Given the description of an element on the screen output the (x, y) to click on. 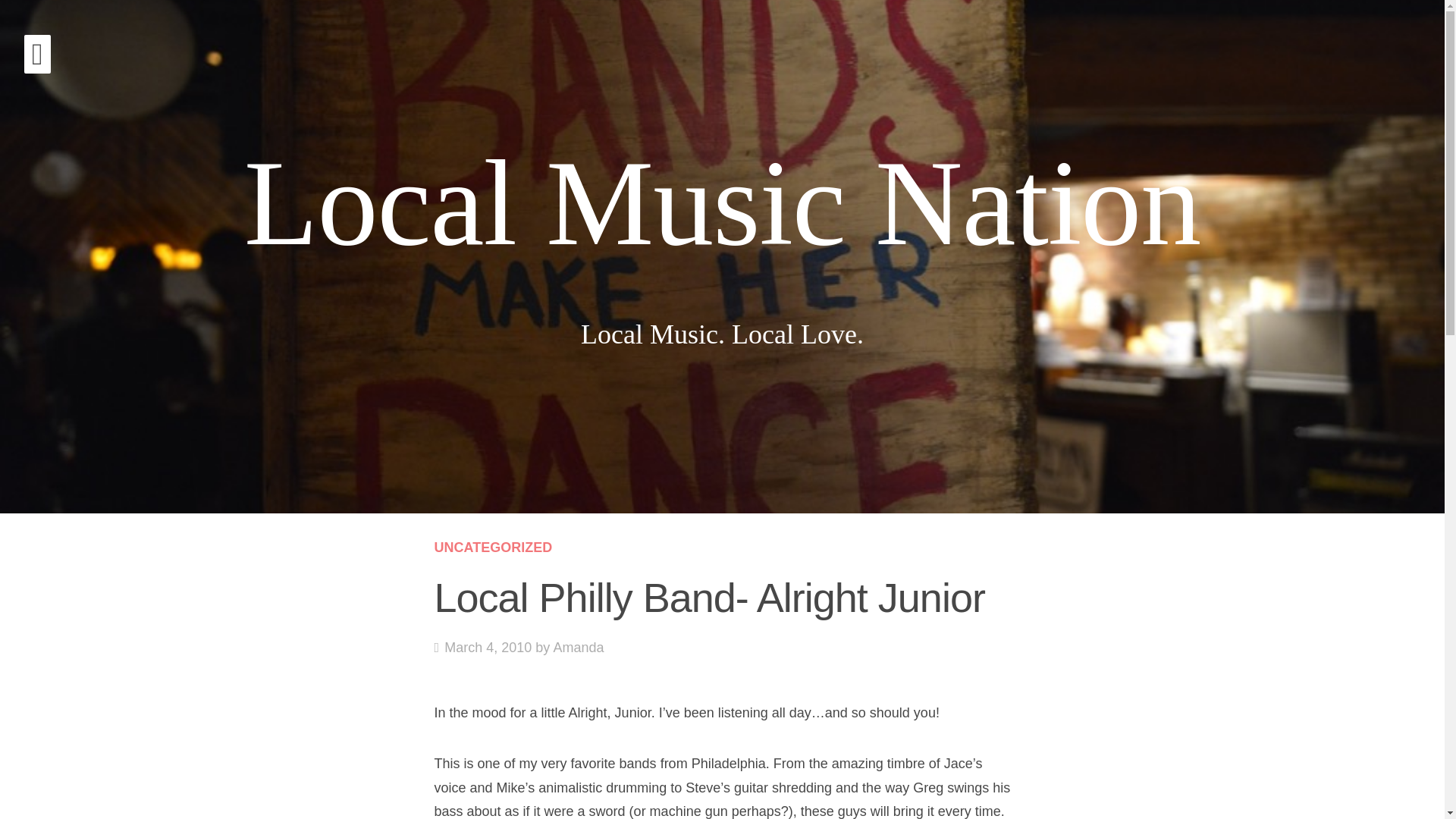
Local Music Nation (722, 203)
UNCATEGORIZED (492, 547)
Amanda (482, 647)
